Given the description of an element on the screen output the (x, y) to click on. 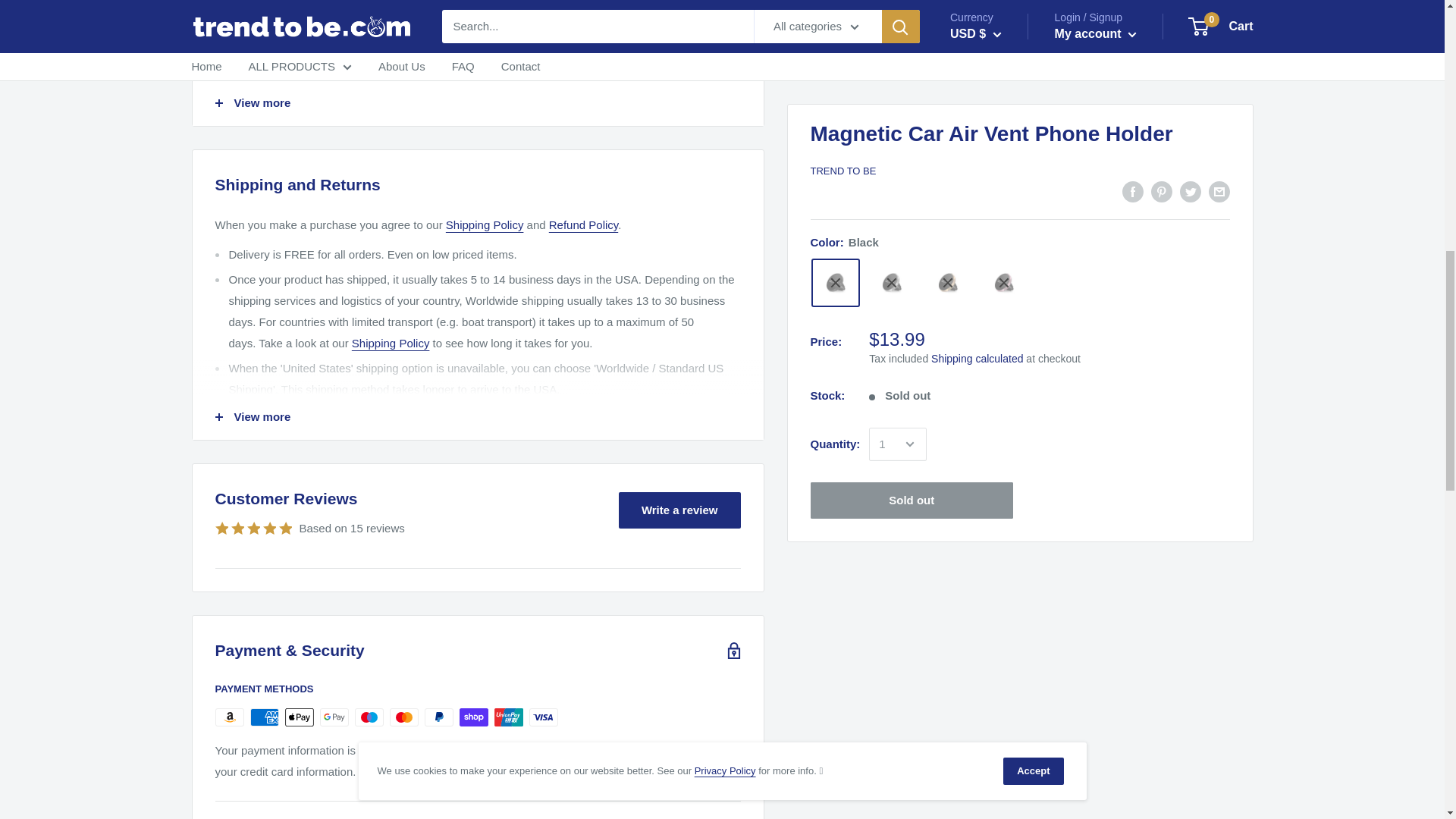
Shipping Policy (484, 224)
Refund Policy (582, 224)
Shipping Policy (390, 342)
